Given the description of an element on the screen output the (x, y) to click on. 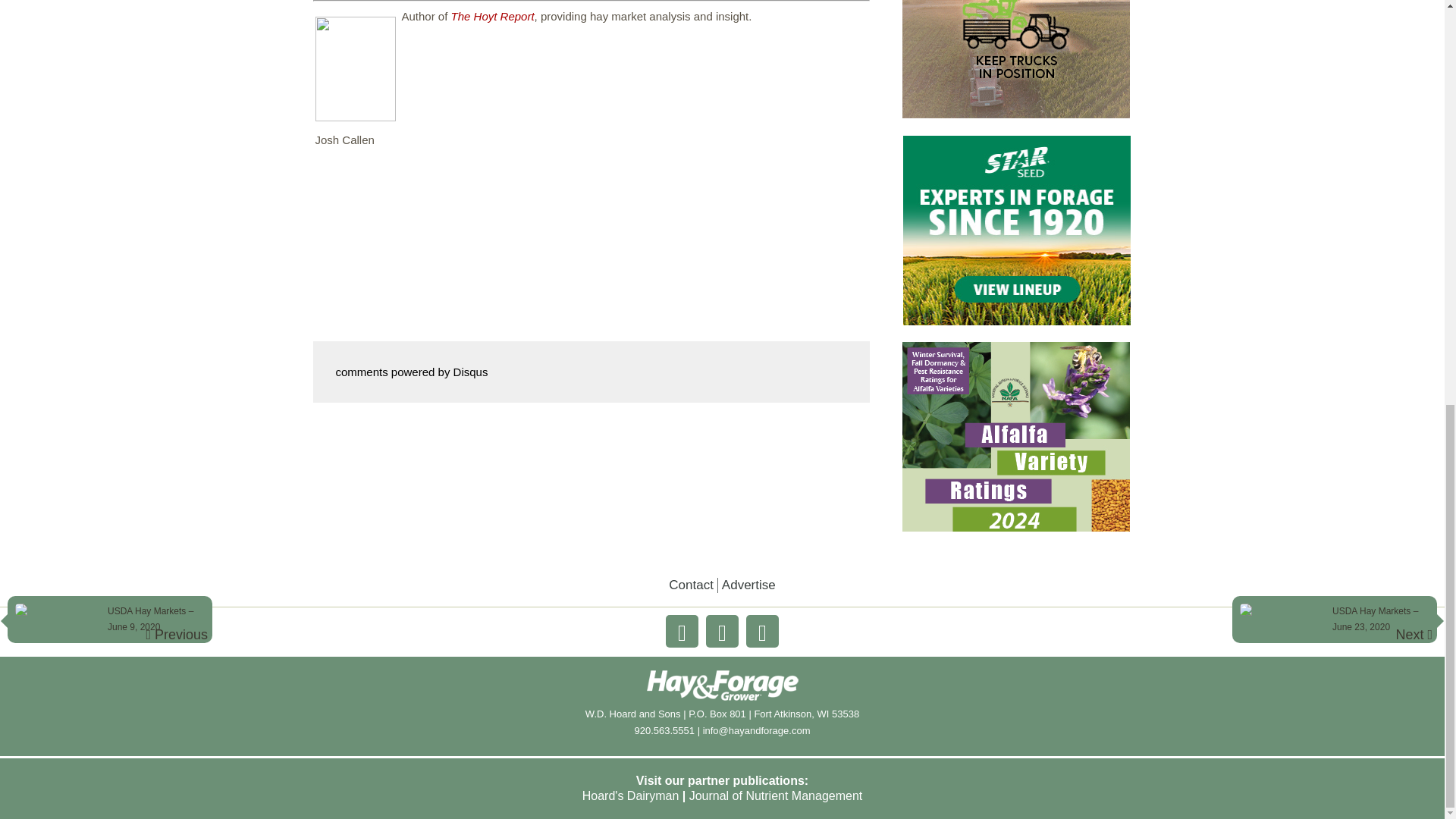
Journal of Nutrient Management (775, 795)
